Given the description of an element on the screen output the (x, y) to click on. 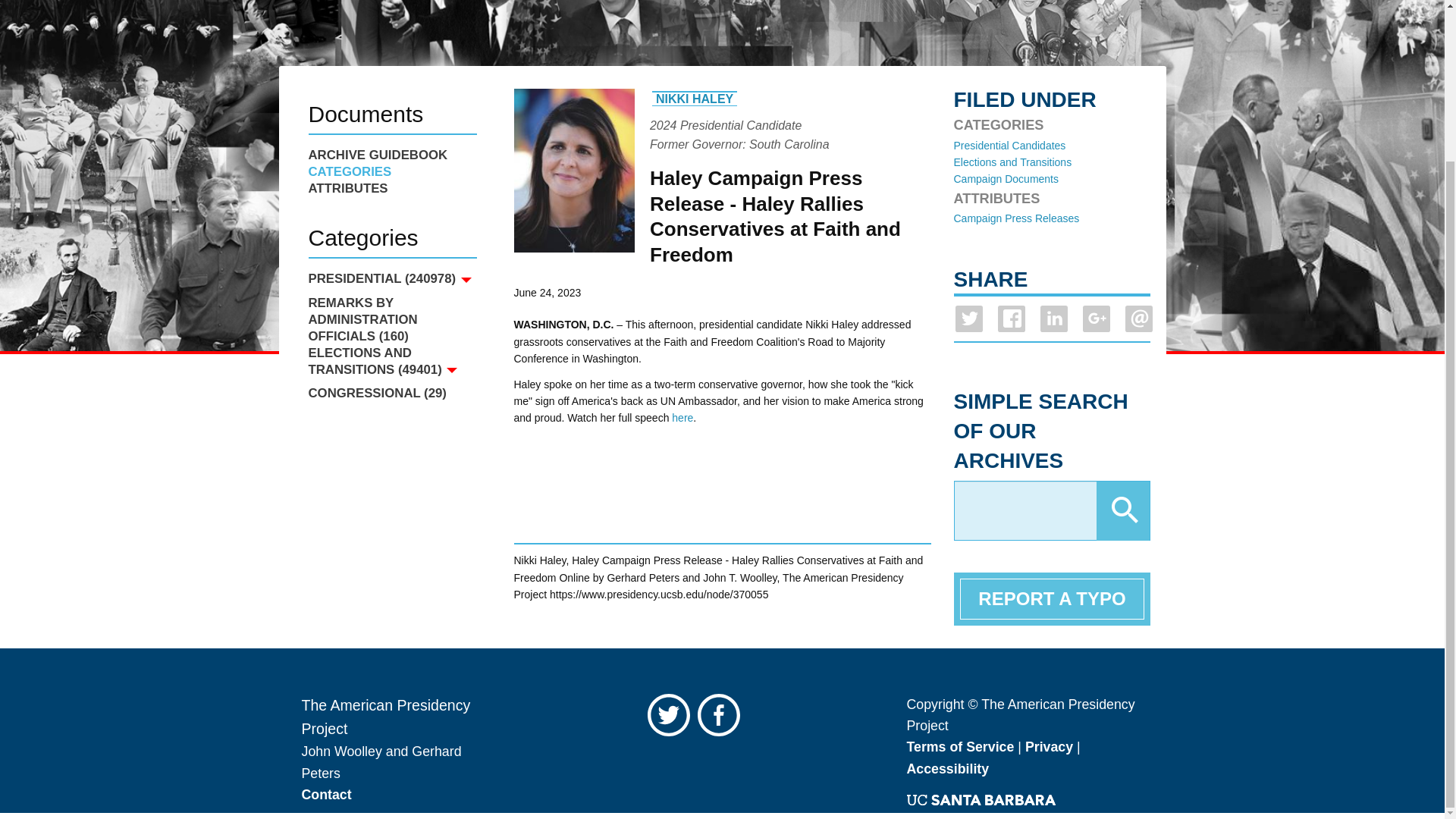
Contact (326, 794)
Accessibility (948, 768)
Terms of Service (960, 746)
REPORT A TYPO (1051, 598)
ATTRIBUTES (391, 188)
Twitter (672, 718)
ARCHIVE GUIDEBOOK (391, 155)
Privacy (1049, 746)
Facebook (722, 718)
here (682, 417)
Campaign Documents (1006, 178)
Presidential Candidates (1009, 145)
CATEGORIES (391, 171)
NIKKI HALEY (694, 97)
Elections and Transitions (1012, 162)
